Given the description of an element on the screen output the (x, y) to click on. 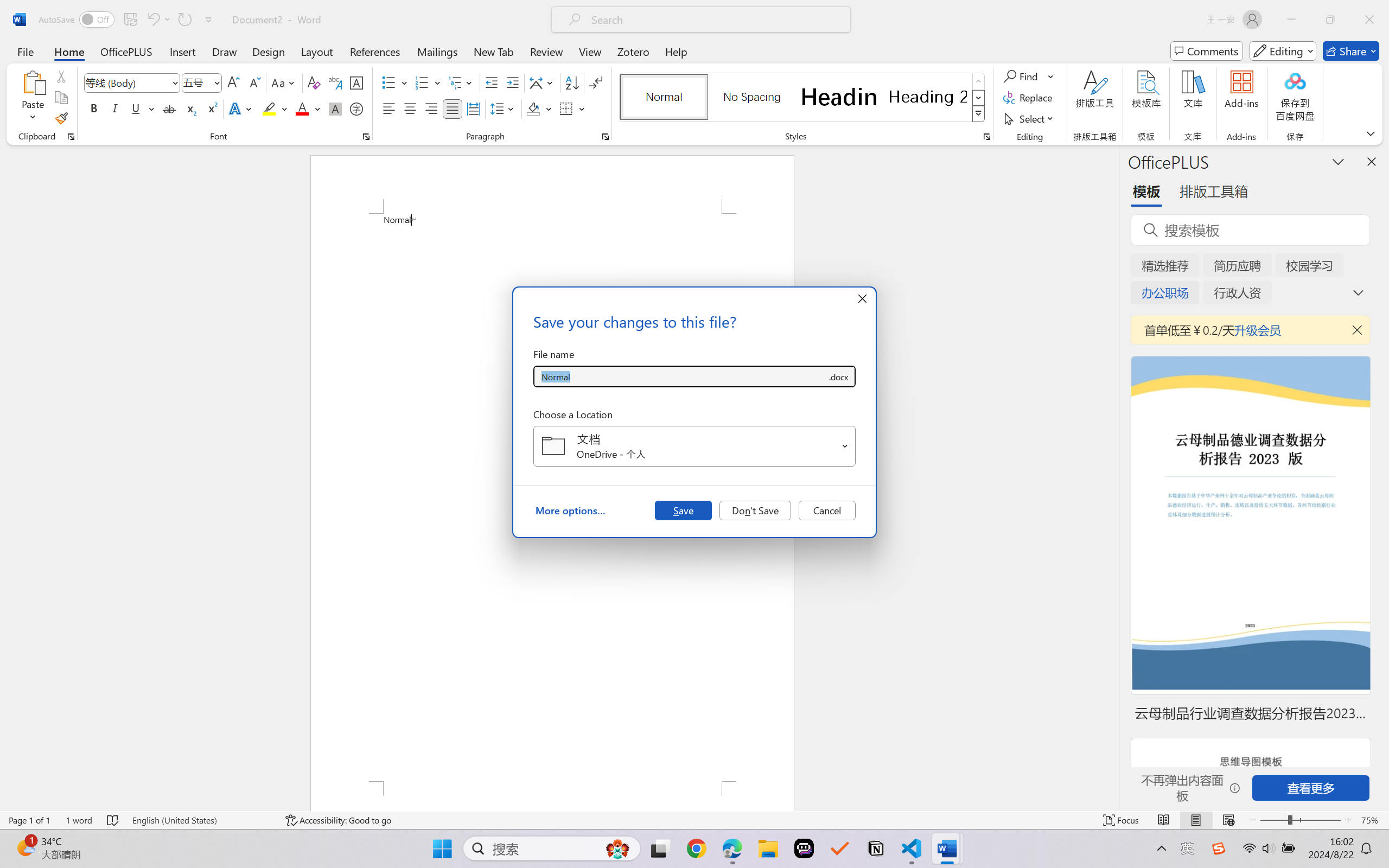
Mailings (437, 51)
Phonetic Guide... (334, 82)
Poe (804, 848)
Minimize (1291, 19)
Shading (539, 108)
Repeat Style (184, 19)
Paste (33, 97)
View (589, 51)
Ribbon Display Options (1370, 132)
Accessibility Checker Accessibility: Good to go (338, 819)
Word Count 1 word (78, 819)
